Given the description of an element on the screen output the (x, y) to click on. 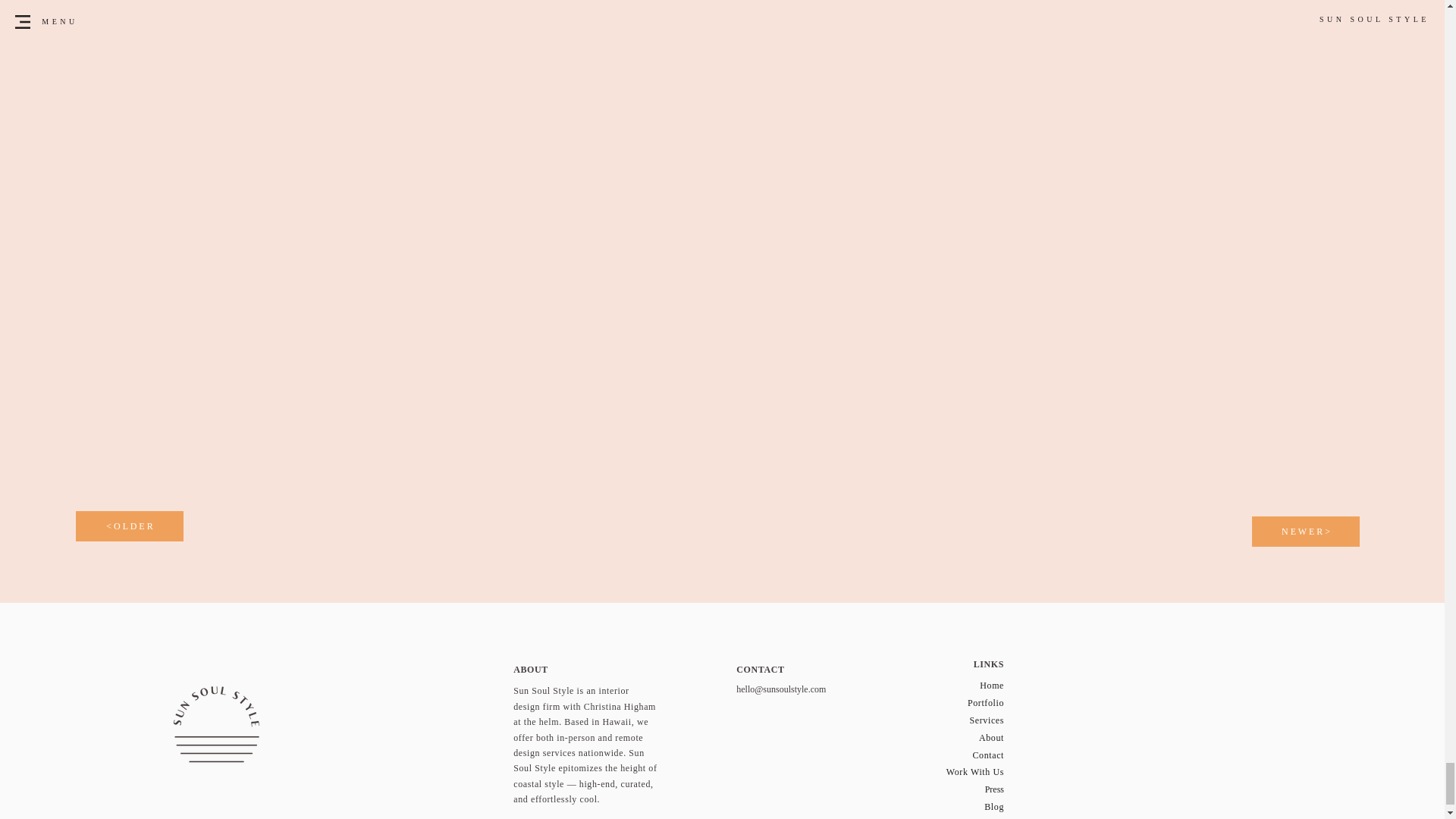
About (991, 737)
Work With Us (975, 771)
Home (991, 685)
Services (986, 719)
Blog (994, 806)
Contact (988, 755)
Press (994, 788)
Portfolio (986, 702)
